Given the description of an element on the screen output the (x, y) to click on. 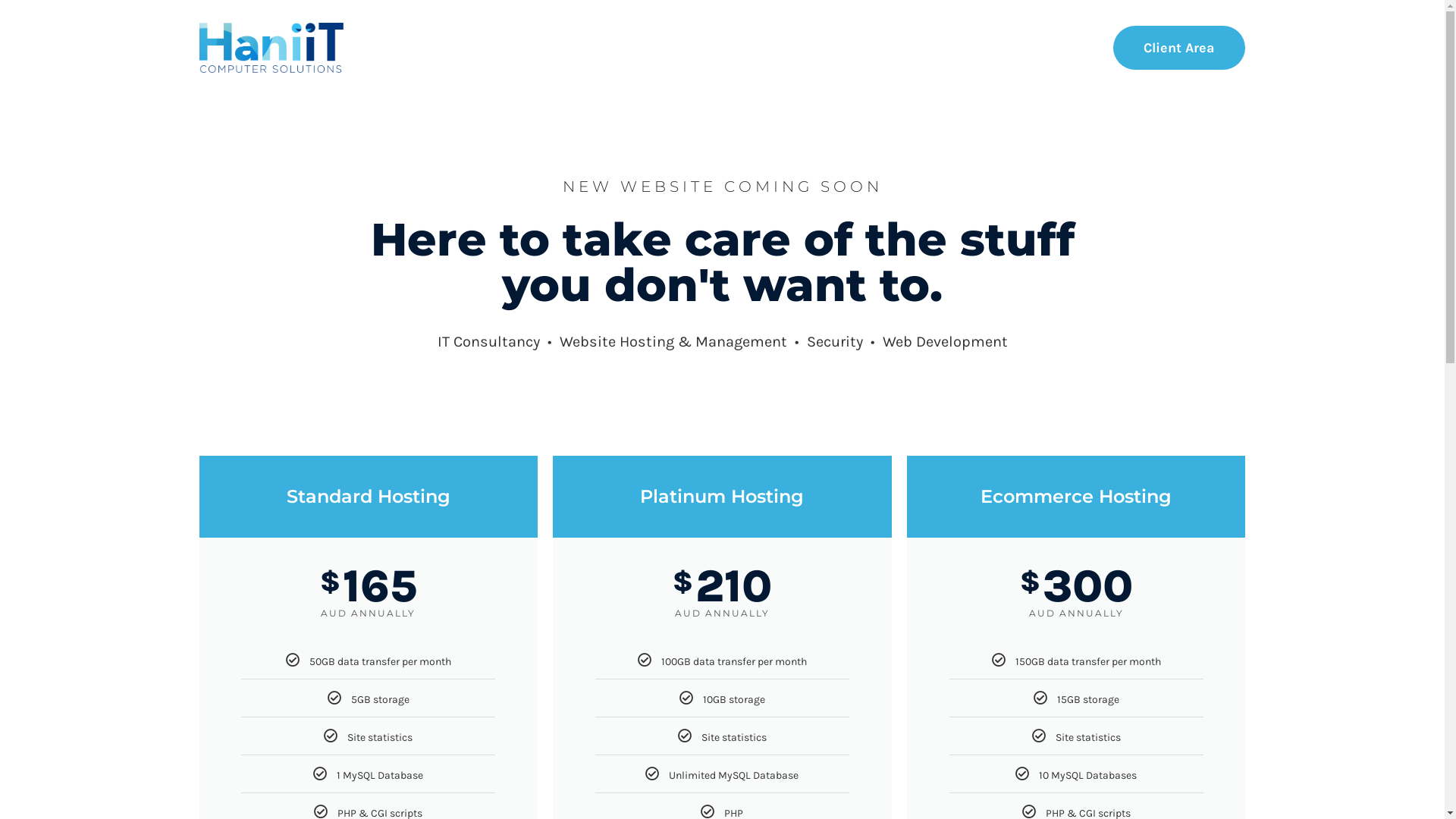
Client Area Element type: text (1179, 47)
